Given the description of an element on the screen output the (x, y) to click on. 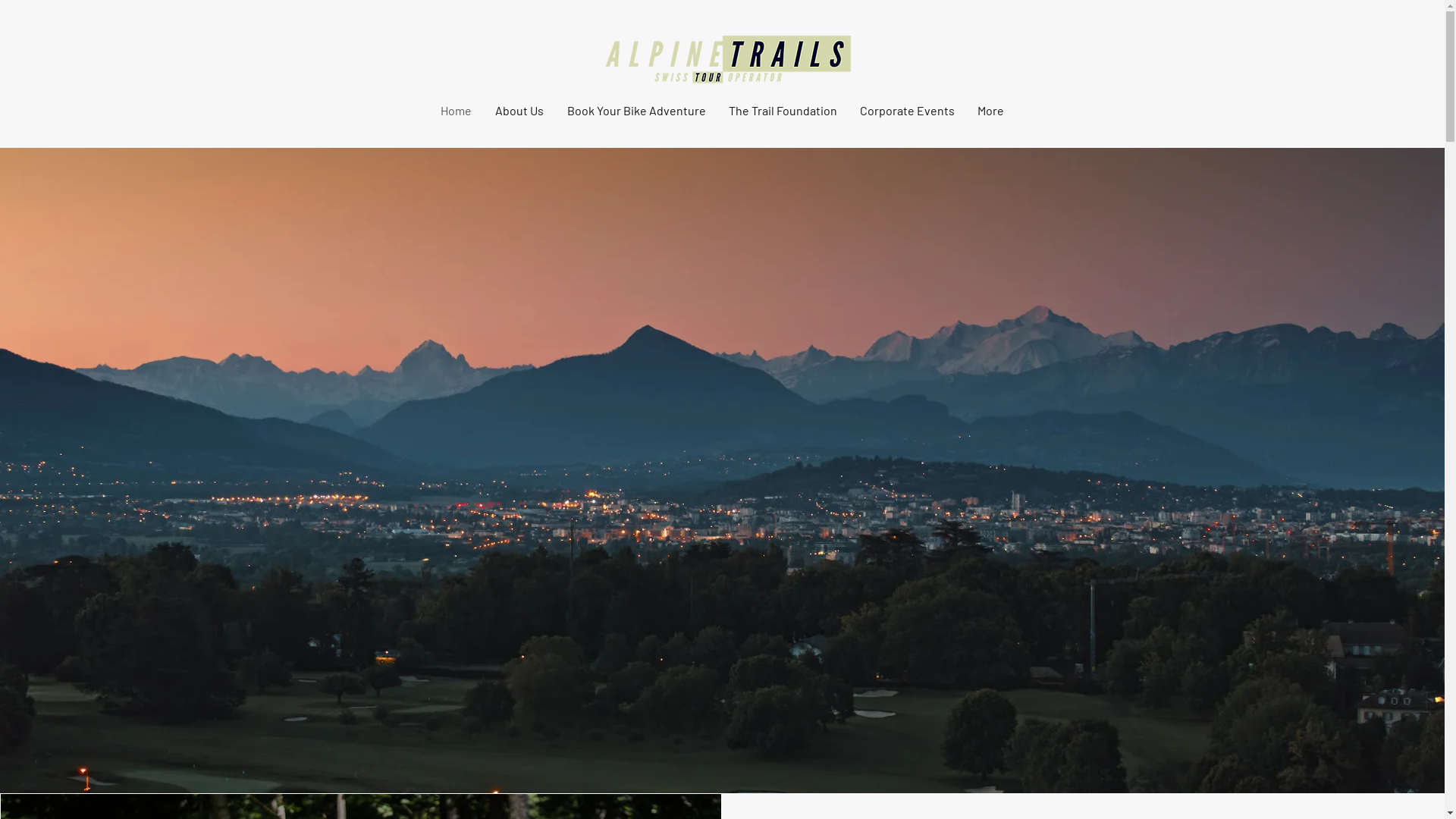
Book Your Bike Adventure Element type: text (635, 110)
Corporate Events Element type: text (906, 110)
The Trail Foundation Element type: text (782, 110)
Home Element type: text (456, 110)
About Us Element type: text (519, 110)
